Given the description of an element on the screen output the (x, y) to click on. 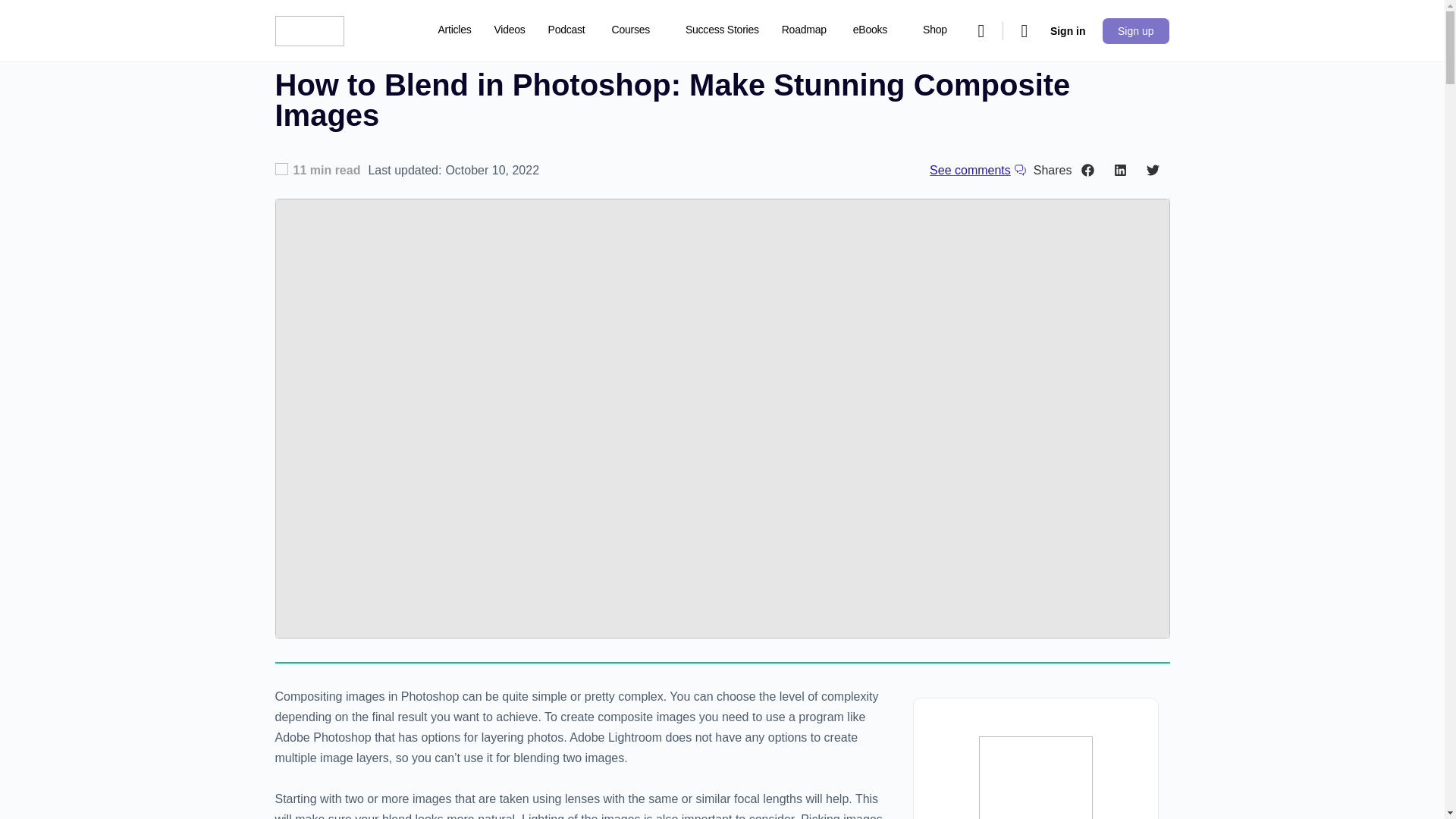
Courses (636, 30)
Trend Report 2024 (480, 91)
eBooks (876, 30)
Sign up (1135, 30)
Success Stories (722, 30)
Roadmap (804, 30)
Sign in (1067, 30)
